Given the description of an element on the screen output the (x, y) to click on. 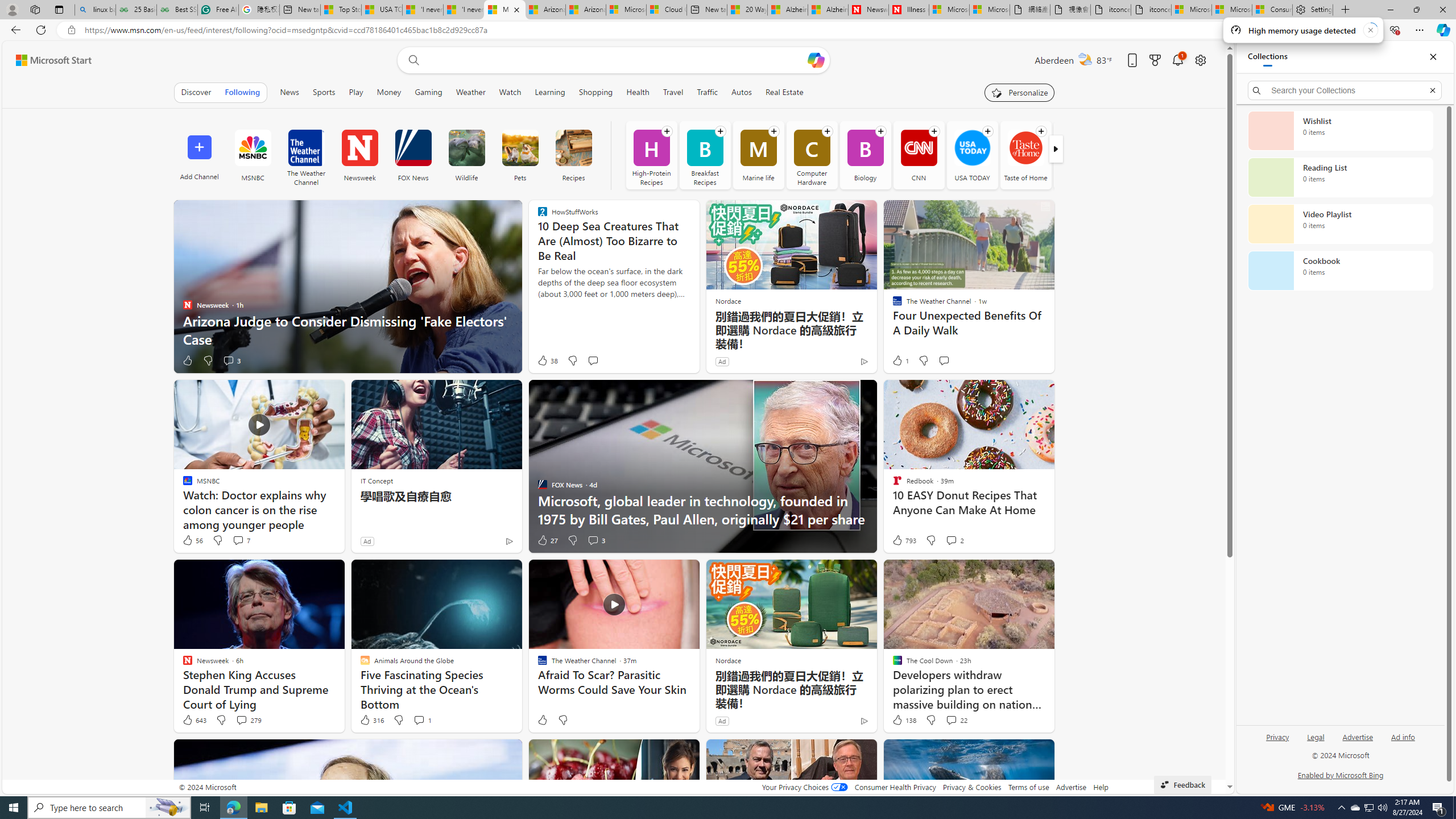
View comments 22 Comment (950, 719)
20 Ways to Boost Your Protein Intake at Every Meal (746, 9)
Best SSL Certificates Provider in India - GeeksforGeeks (176, 9)
Breakfast Recipes (704, 155)
Autos (741, 92)
FOX News (413, 155)
38 Like (546, 360)
linux basic - Search (94, 9)
Ad info (1402, 736)
Wishlist collection, 0 items (1339, 130)
